Given the description of an element on the screen output the (x, y) to click on. 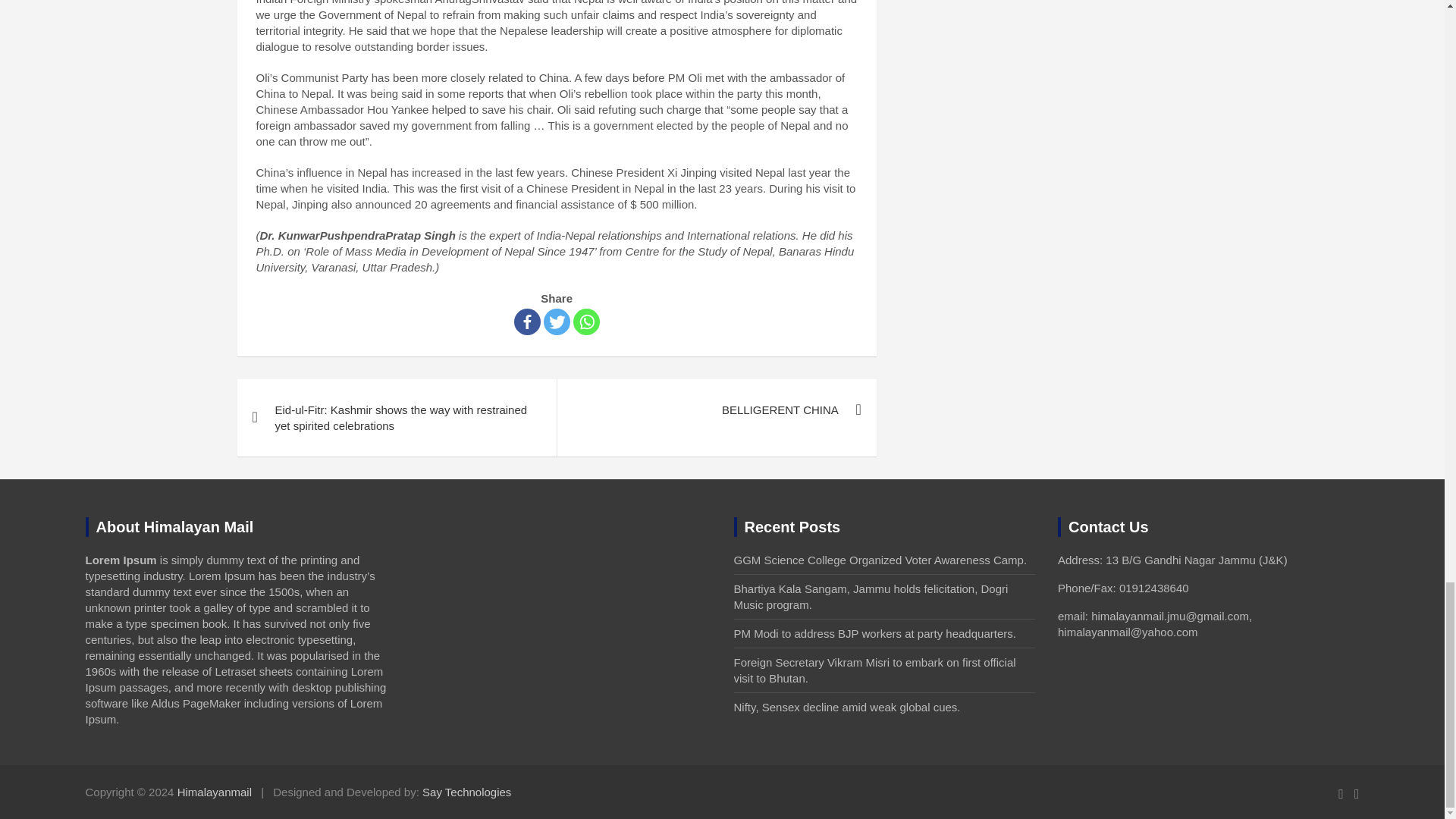
Himalayanmail (214, 791)
Facebook (526, 321)
Say Technologies (466, 791)
Whatsapp (586, 321)
BELLIGERENT CHINA (716, 409)
Twitter (556, 321)
